Given the description of an element on the screen output the (x, y) to click on. 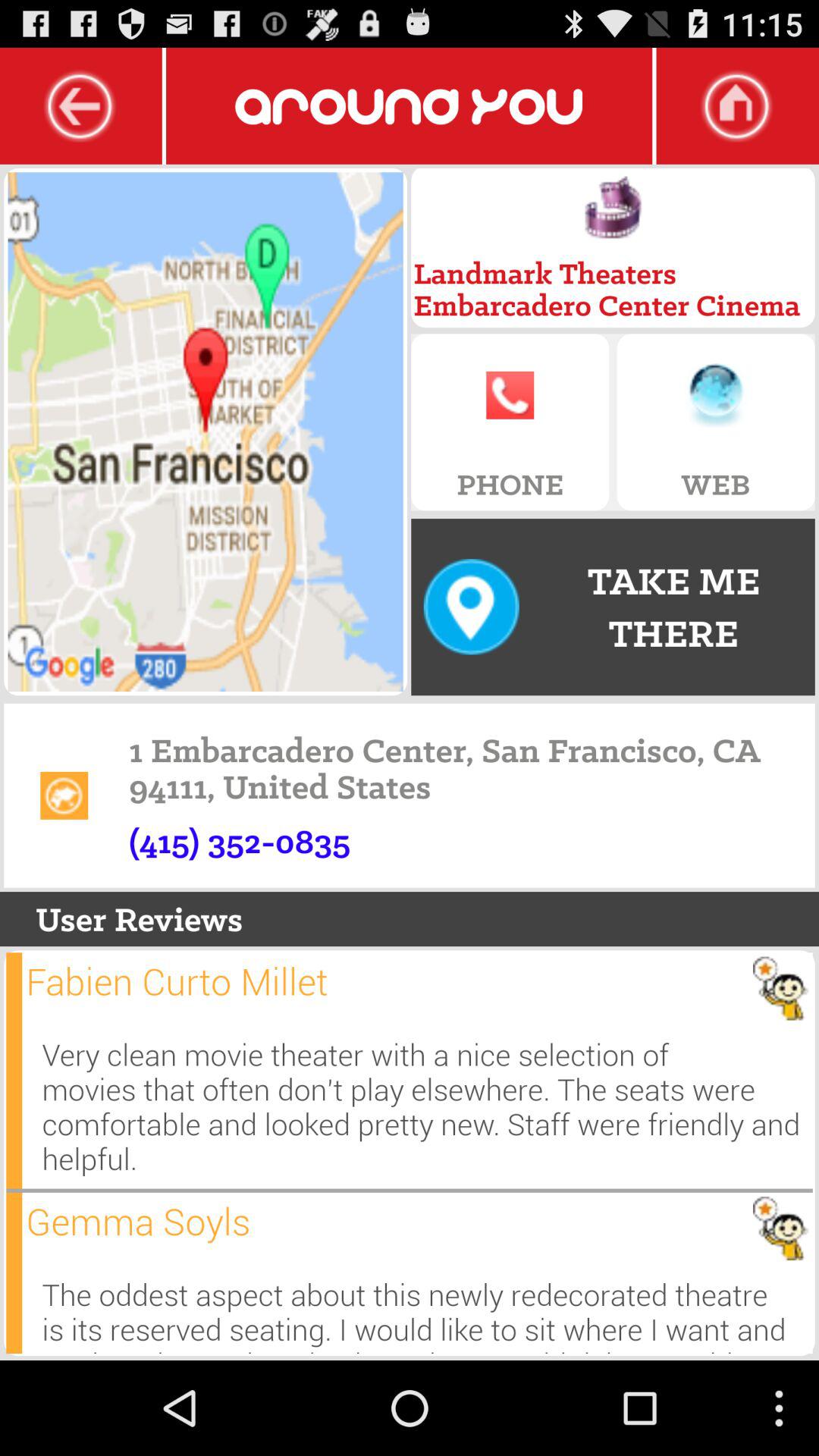
choose the item below     user reviews  icon (177, 980)
